Given the description of an element on the screen output the (x, y) to click on. 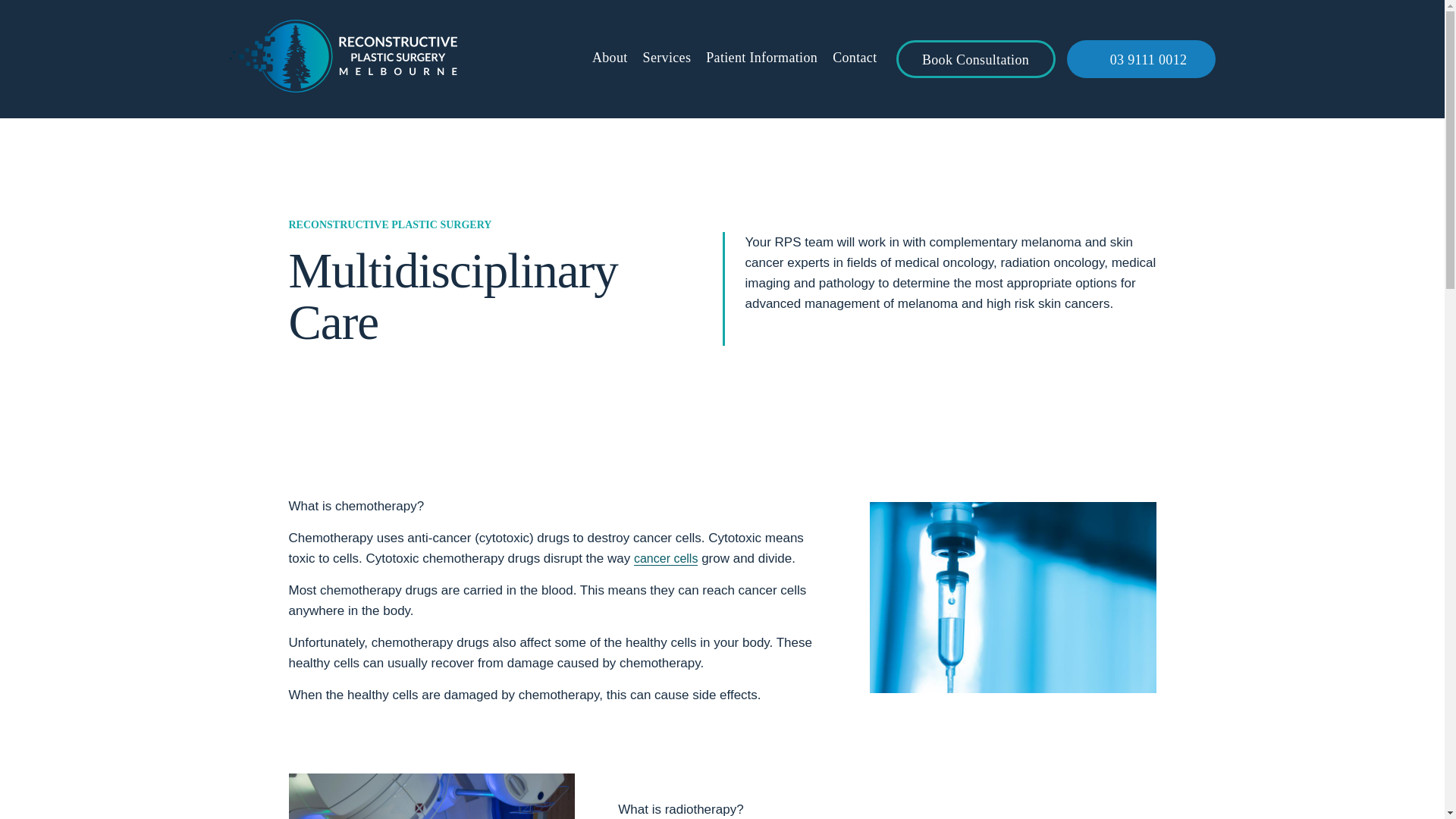
03 9111 0012 (1139, 58)
Patient Information (761, 58)
Book Consultation (975, 58)
cancer cells (665, 558)
Find out more about how cancer cells grow and divide  (665, 558)
